Given the description of an element on the screen output the (x, y) to click on. 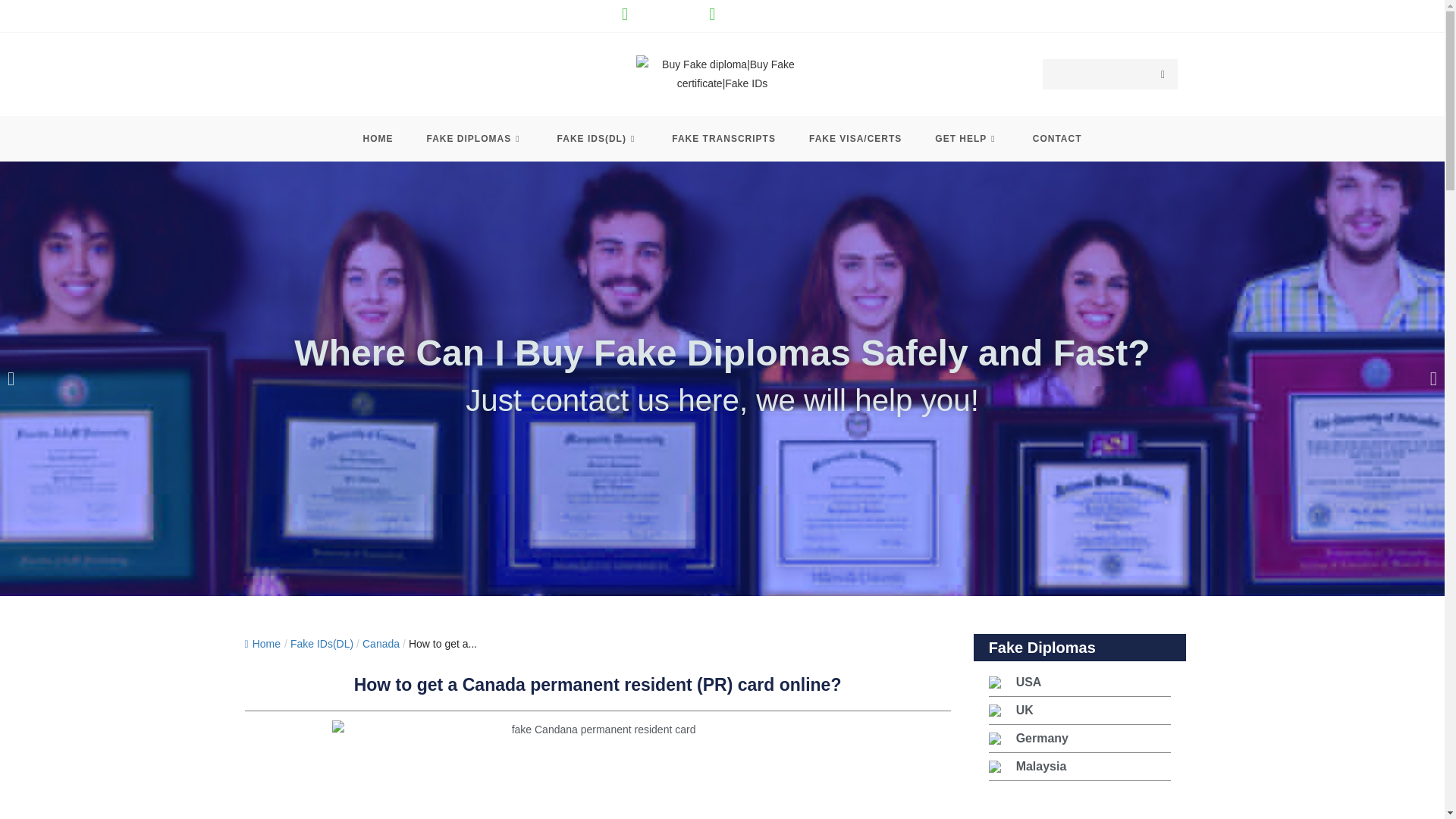
FAKE TRANSCRIPTS (723, 138)
CONTACT (1057, 138)
GET HELP (966, 138)
FAKE DIPLOMAS (474, 138)
HOME (377, 138)
Category Name (321, 644)
Canada (380, 644)
